Given the description of an element on the screen output the (x, y) to click on. 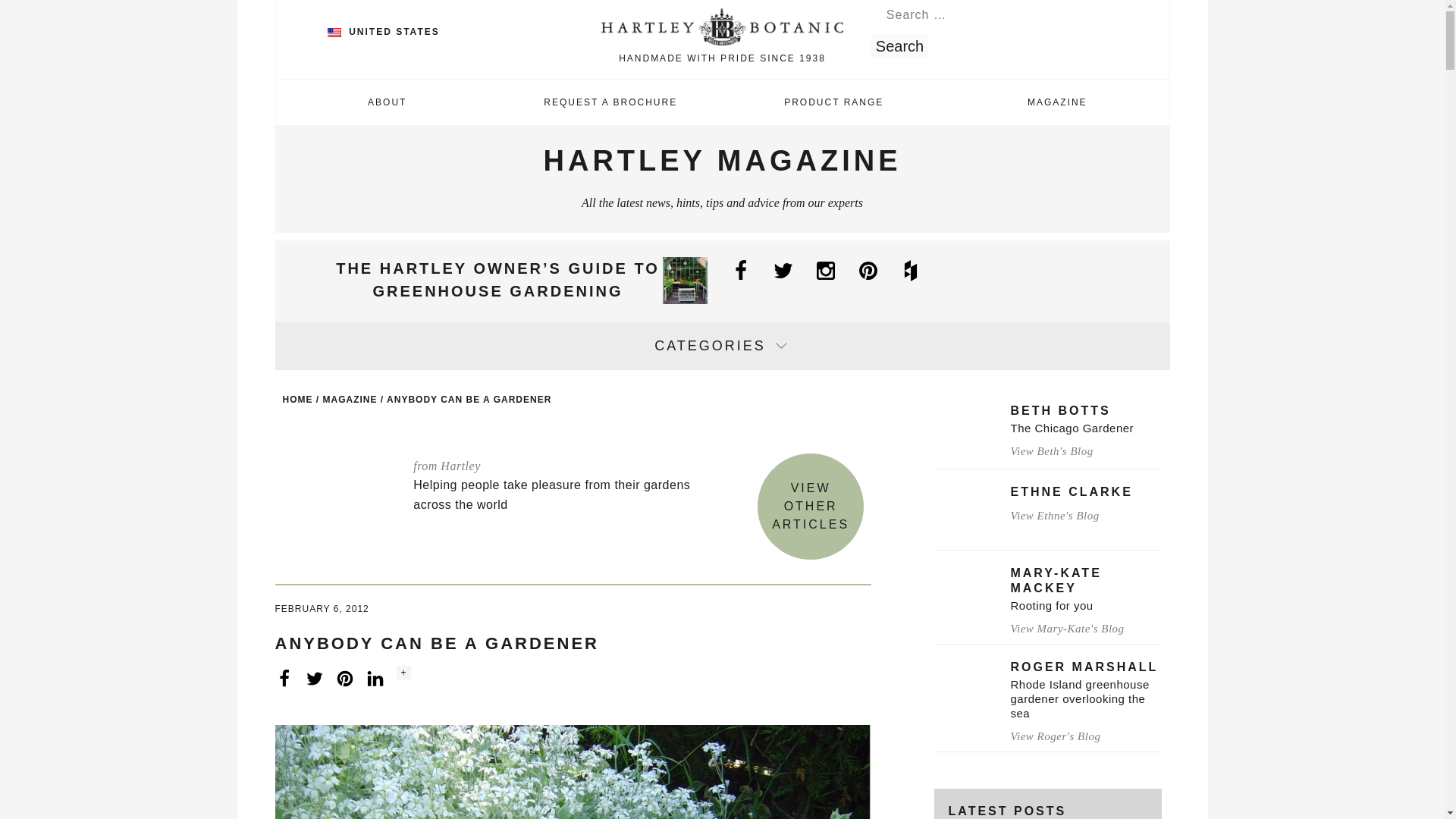
United States (333, 31)
ABOUT (387, 102)
REQUEST A BROCHURE (610, 102)
PRODUCT RANGE (833, 102)
Search (899, 46)
HANDMADE WITH PRIDE SINCE 1938 (722, 38)
Search (899, 46)
  UNITED STATES (383, 31)
Search (899, 46)
